Given the description of an element on the screen output the (x, y) to click on. 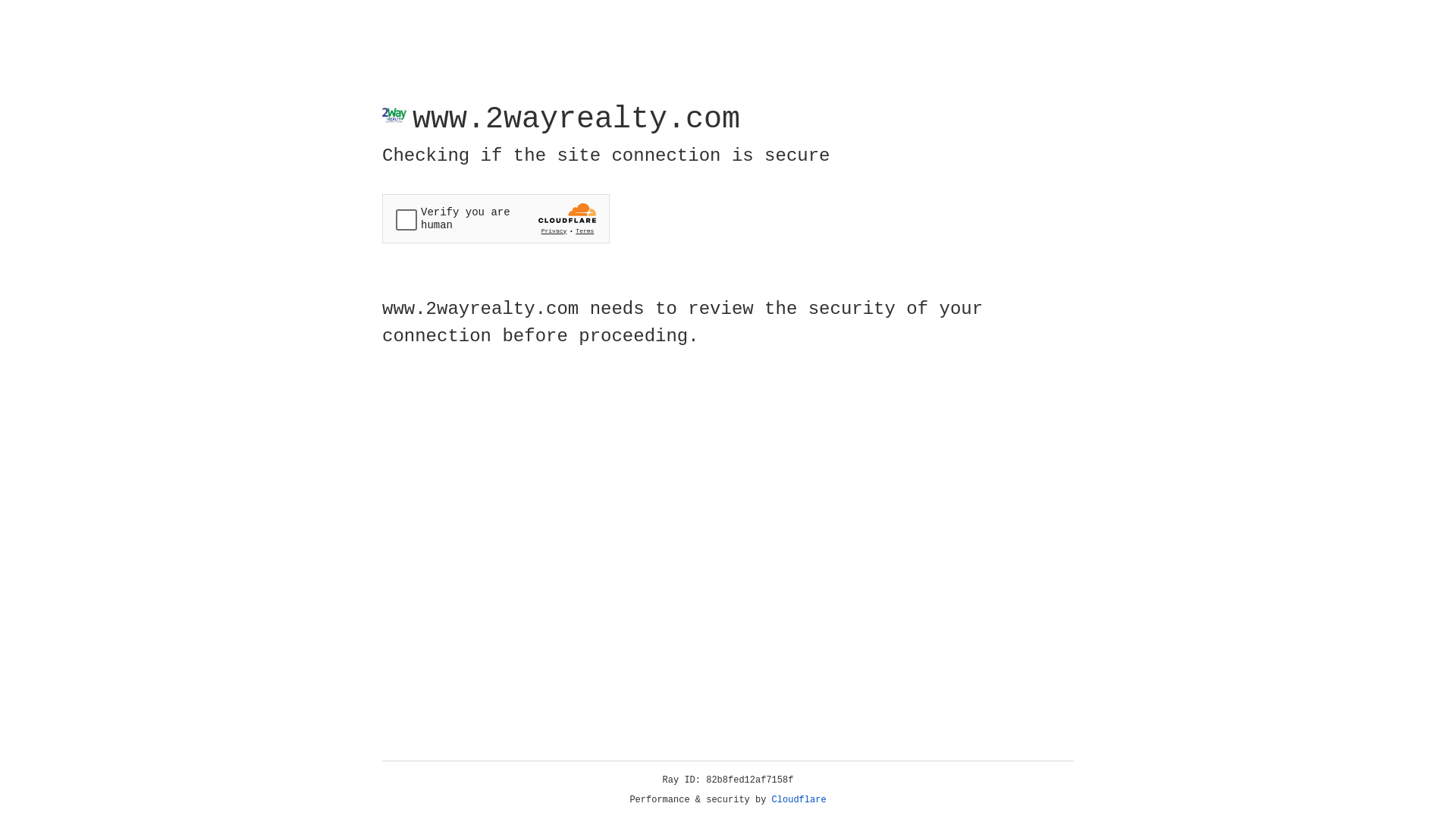
Widget containing a Cloudflare security challenge Element type: hover (495, 218)
Cloudflare Element type: text (798, 799)
